Given the description of an element on the screen output the (x, y) to click on. 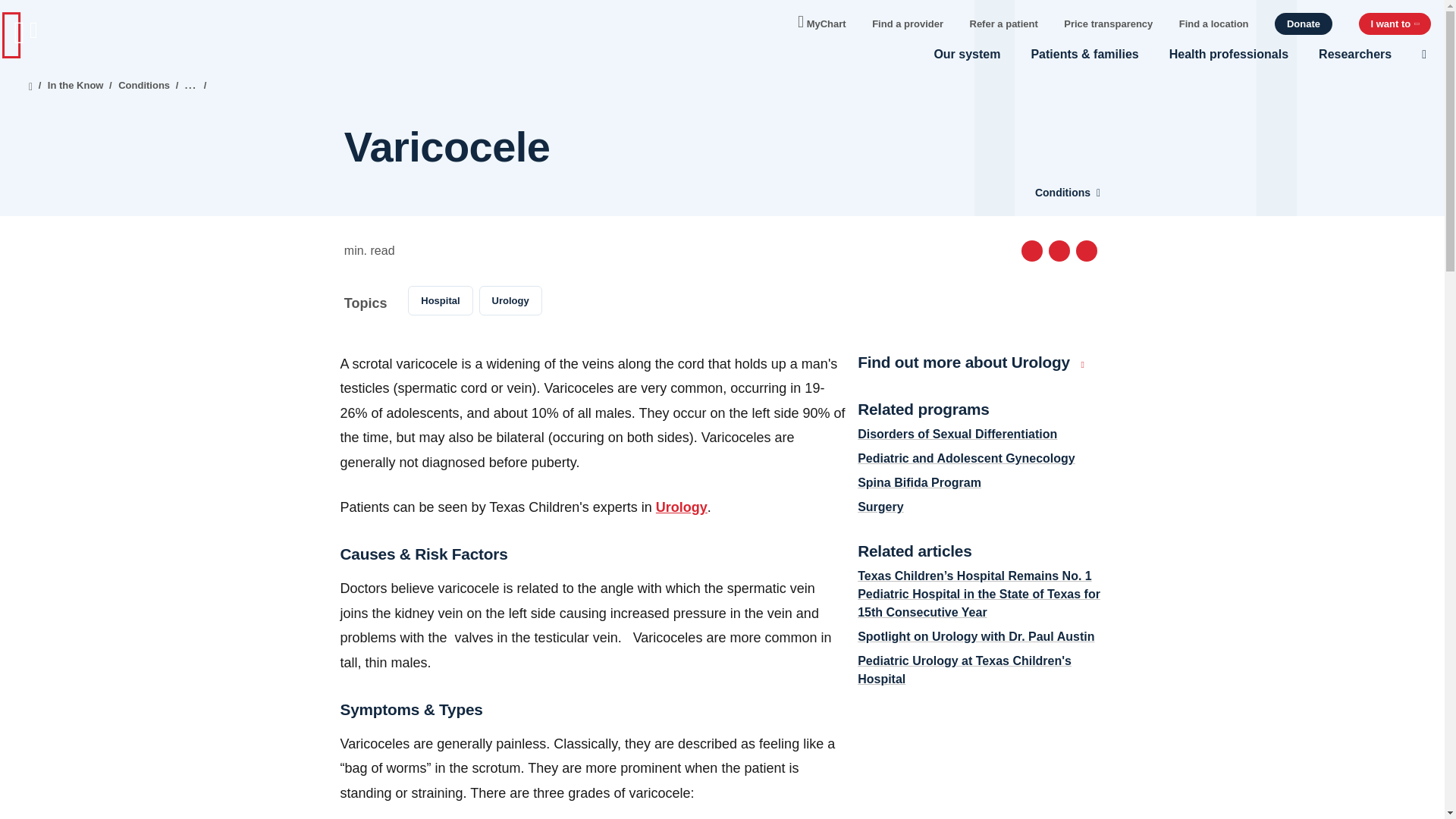
Refer a patient (1002, 23)
Share to X (1059, 250)
Share to Facebook (1032, 250)
MyChart (821, 20)
Find a provider (907, 23)
Our system (966, 54)
Price transparency (1108, 23)
Find a location (1214, 23)
Donate (1303, 24)
